Given the description of an element on the screen output the (x, y) to click on. 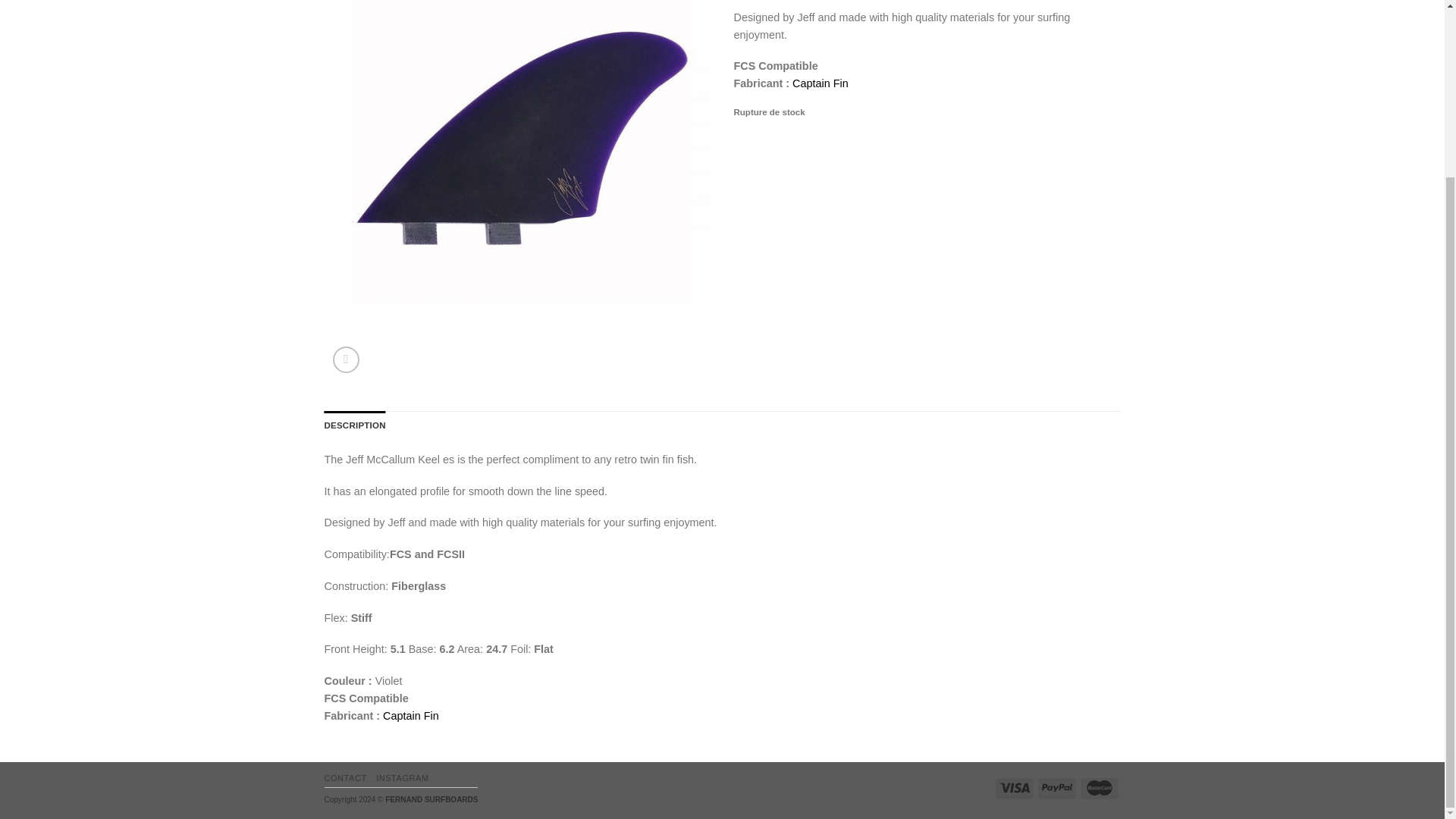
DESCRIPTION (354, 425)
Captain Fin (410, 715)
CONTACT (345, 777)
INSTAGRAM (402, 777)
Captain Fin (820, 82)
Zoom (346, 359)
